Given the description of an element on the screen output the (x, y) to click on. 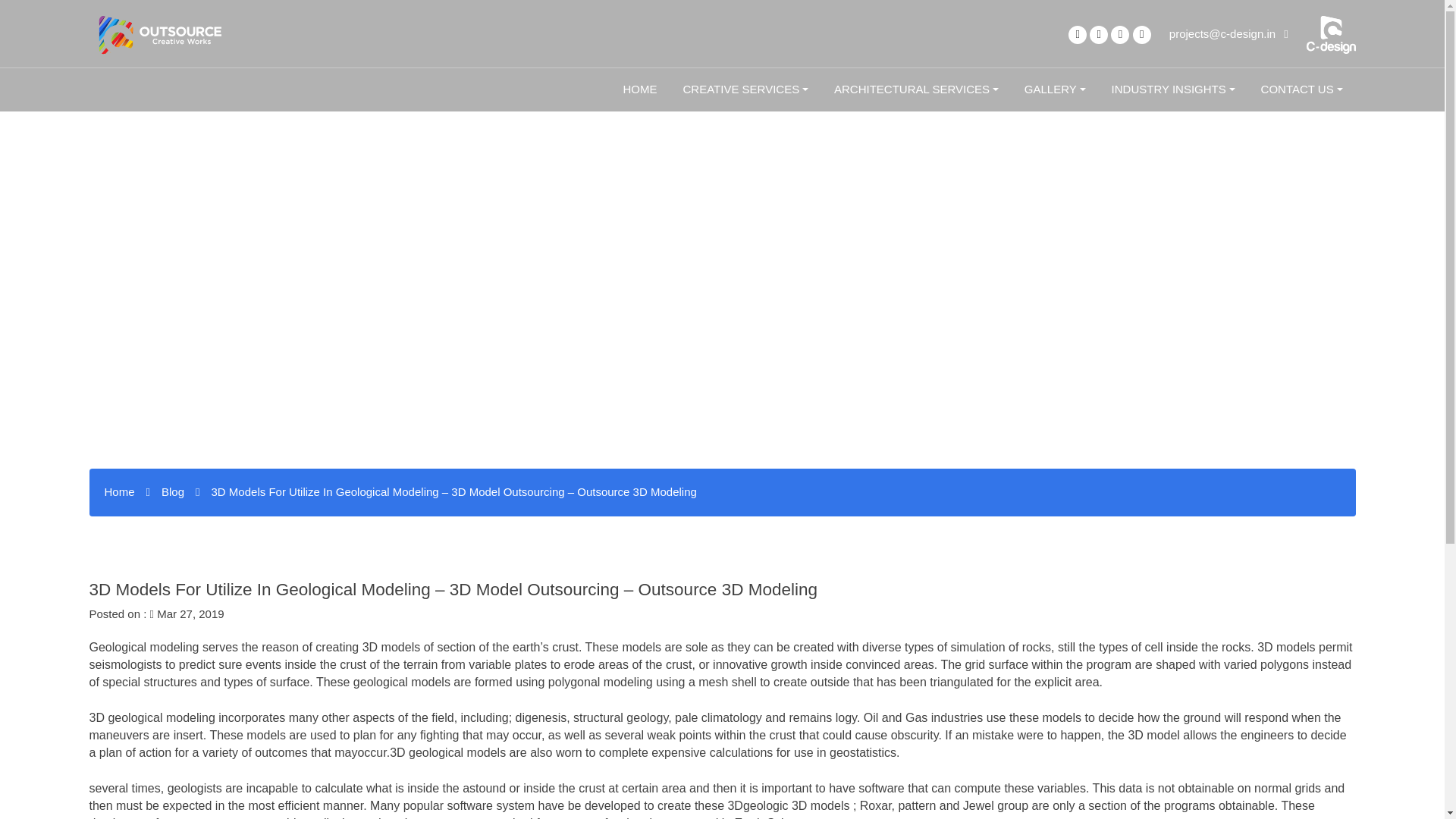
HOME (639, 90)
ARCHITECTURAL SERVICES (916, 90)
GALLERY (1055, 90)
CREATIVE SERVICES (745, 90)
